Given the description of an element on the screen output the (x, y) to click on. 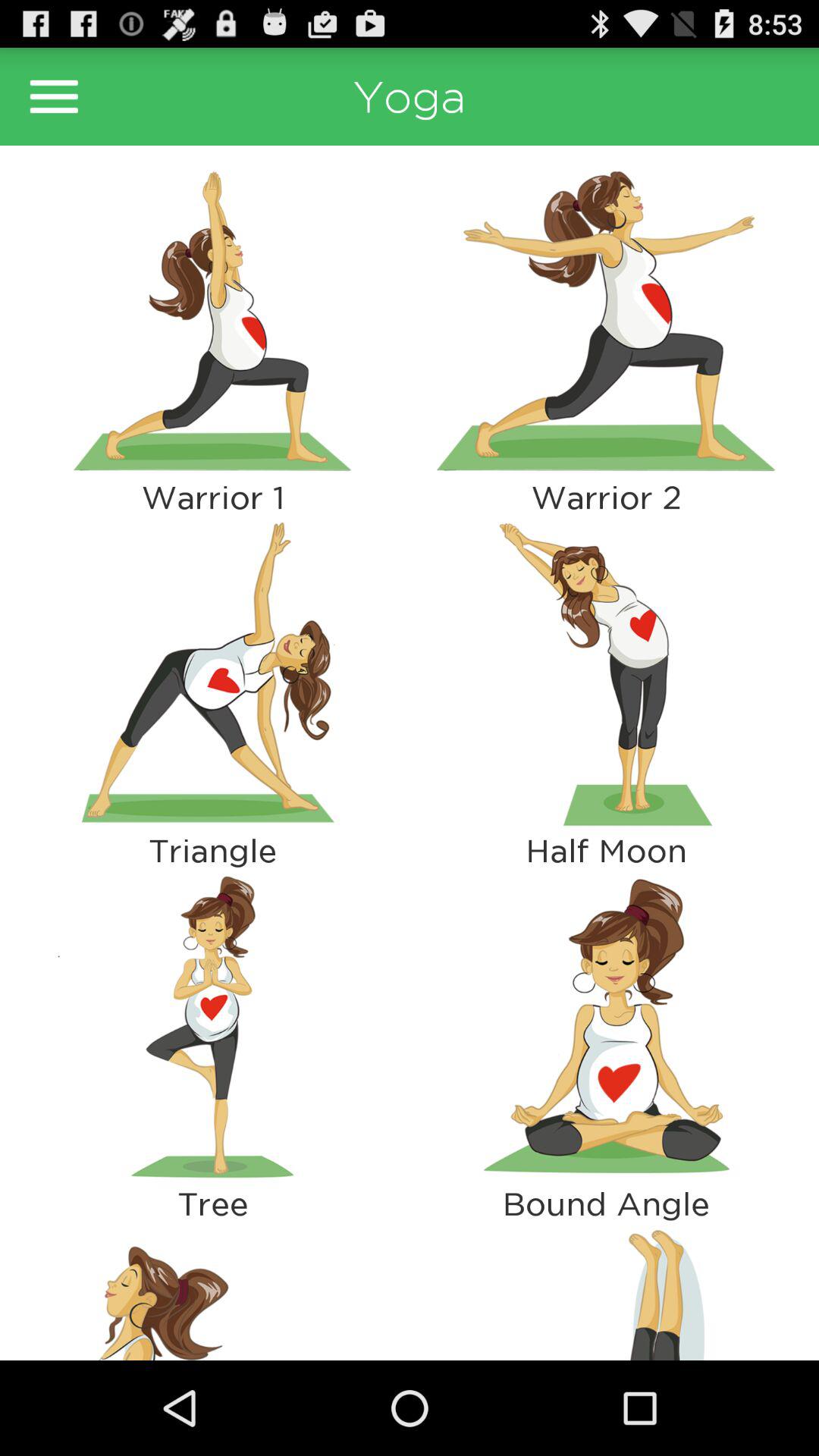
start instructions (212, 673)
